Given the description of an element on the screen output the (x, y) to click on. 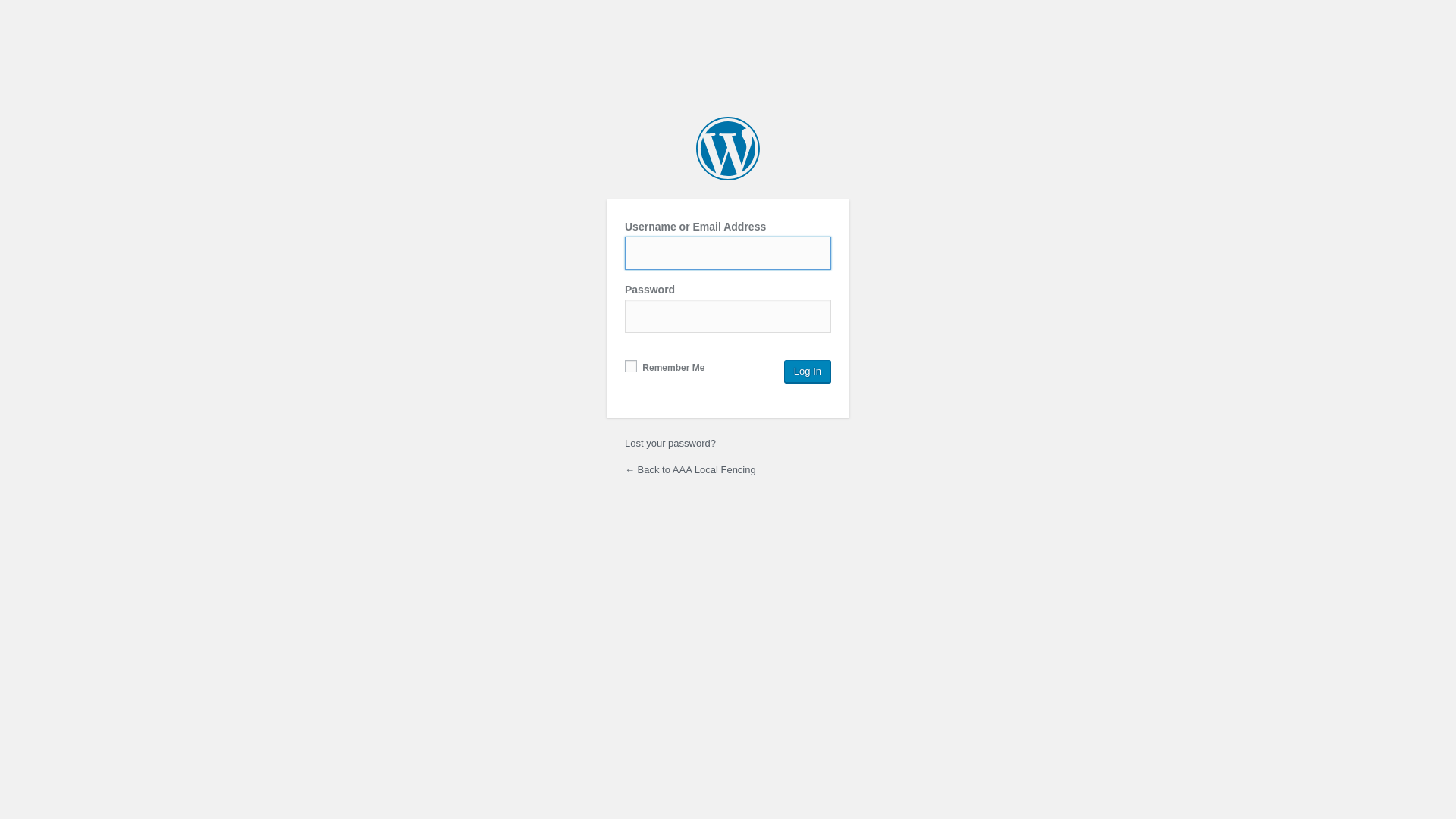
Log In Element type: text (807, 371)
Powered by WordPress Element type: text (727, 148)
Lost your password? Element type: text (669, 442)
